Given the description of an element on the screen output the (x, y) to click on. 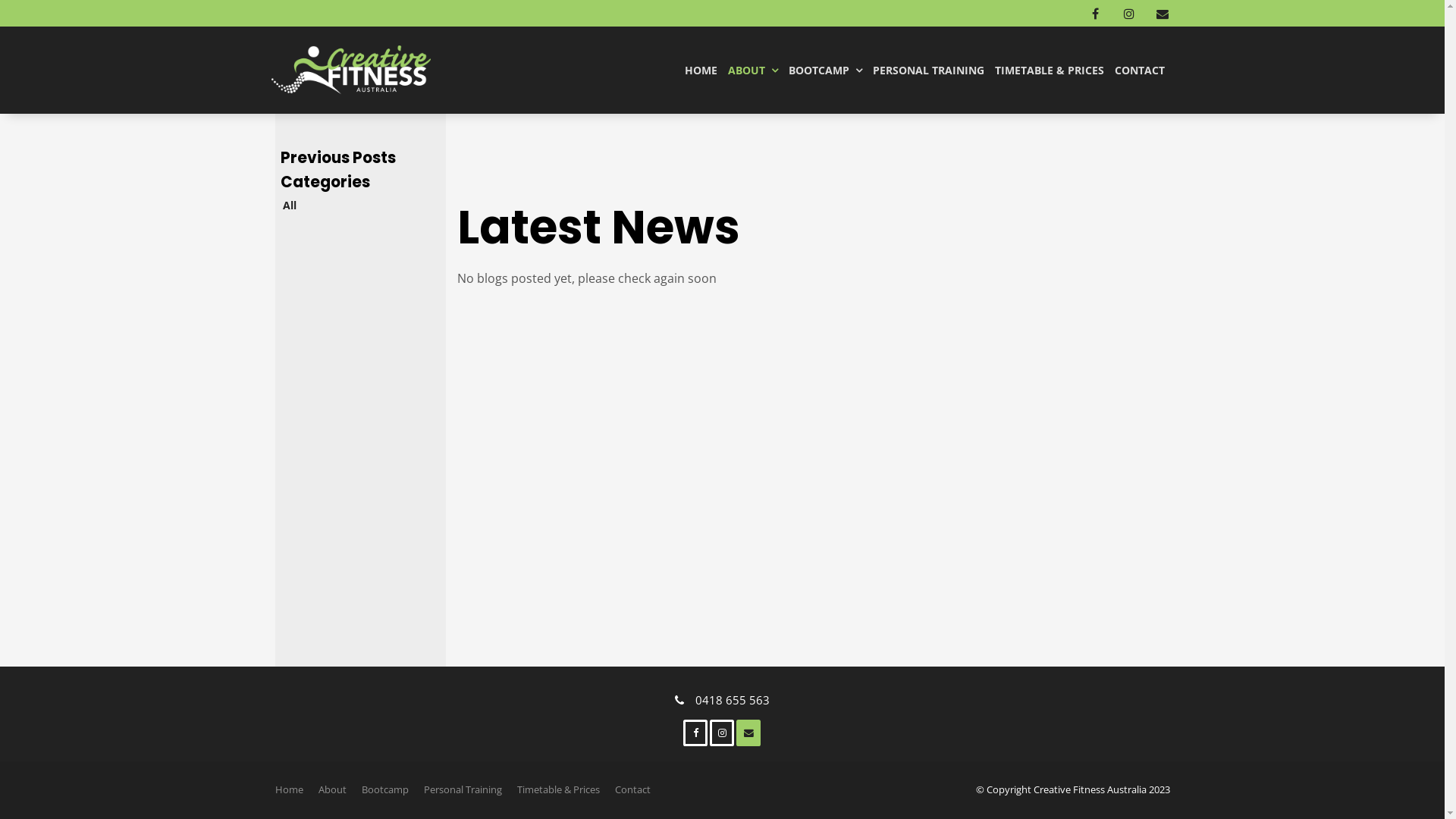
TIMETABLE & PRICES Element type: text (1048, 69)
PERSONAL TRAINING Element type: text (928, 69)
Timetable & Prices Element type: text (558, 789)
CONTACT Element type: text (1138, 69)
Contact Element type: text (631, 789)
ABOUT Element type: text (751, 69)
HOME Element type: text (700, 69)
Bootcamp Element type: text (384, 789)
About Element type: text (332, 789)
All Element type: text (360, 204)
Personal Training Element type: text (461, 789)
BOOTCAMP Element type: text (824, 69)
Home Element type: text (288, 789)
